Given the description of an element on the screen output the (x, y) to click on. 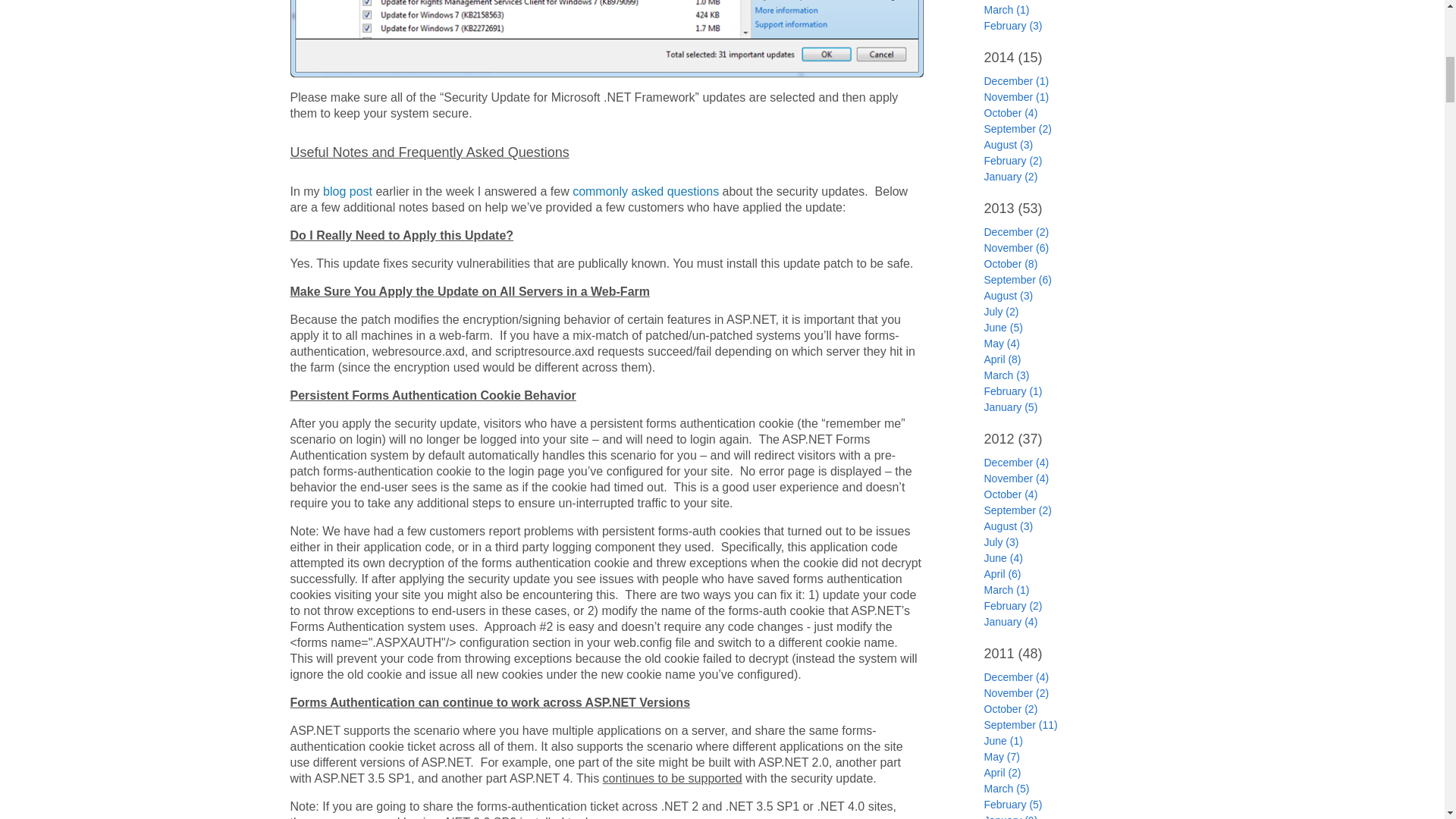
image (606, 38)
commonly asked questions (645, 191)
blog post (347, 191)
